Given the description of an element on the screen output the (x, y) to click on. 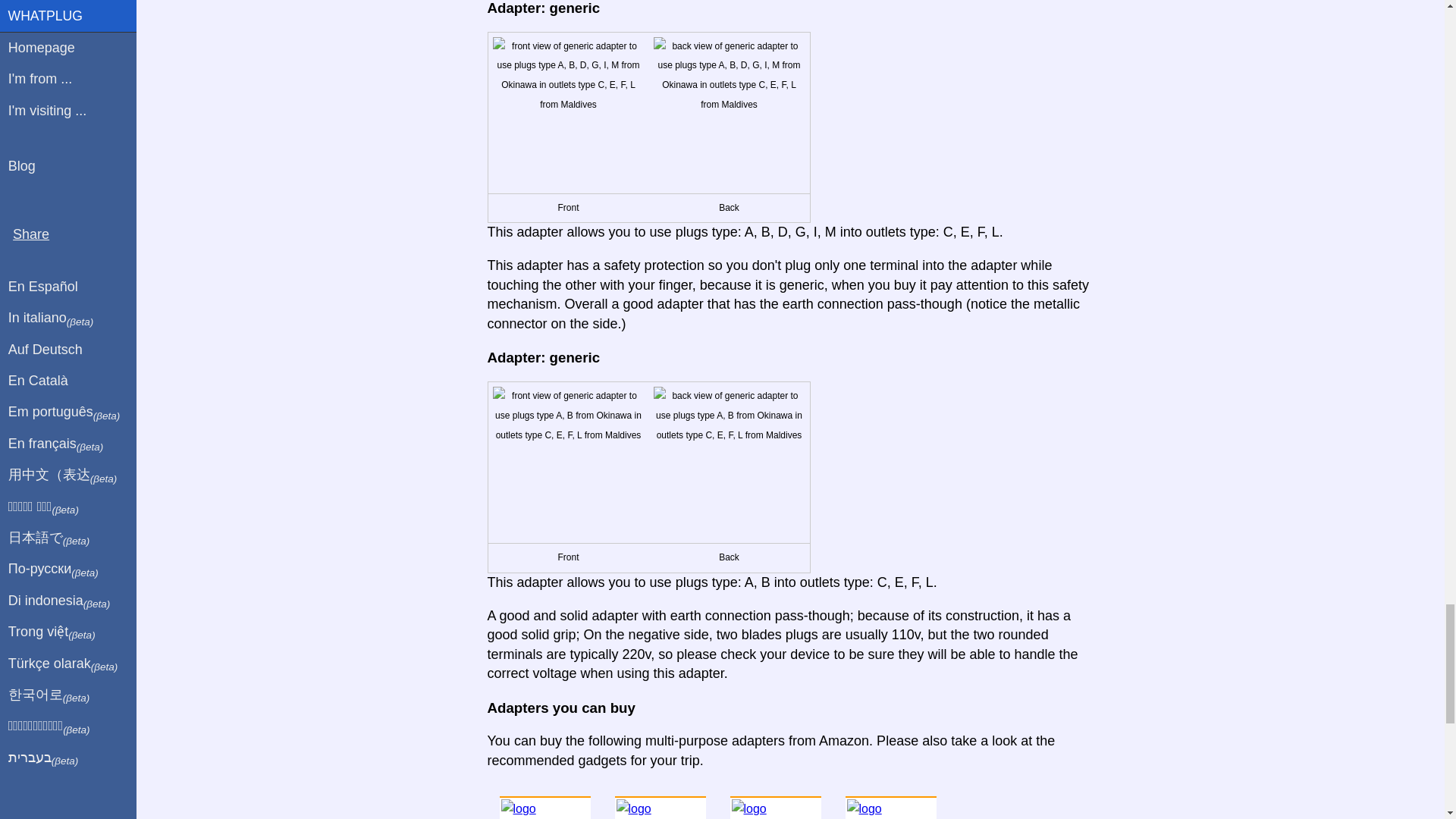
Travelrest - Ultimate Travel Pillow (659, 807)
